Given the description of an element on the screen output the (x, y) to click on. 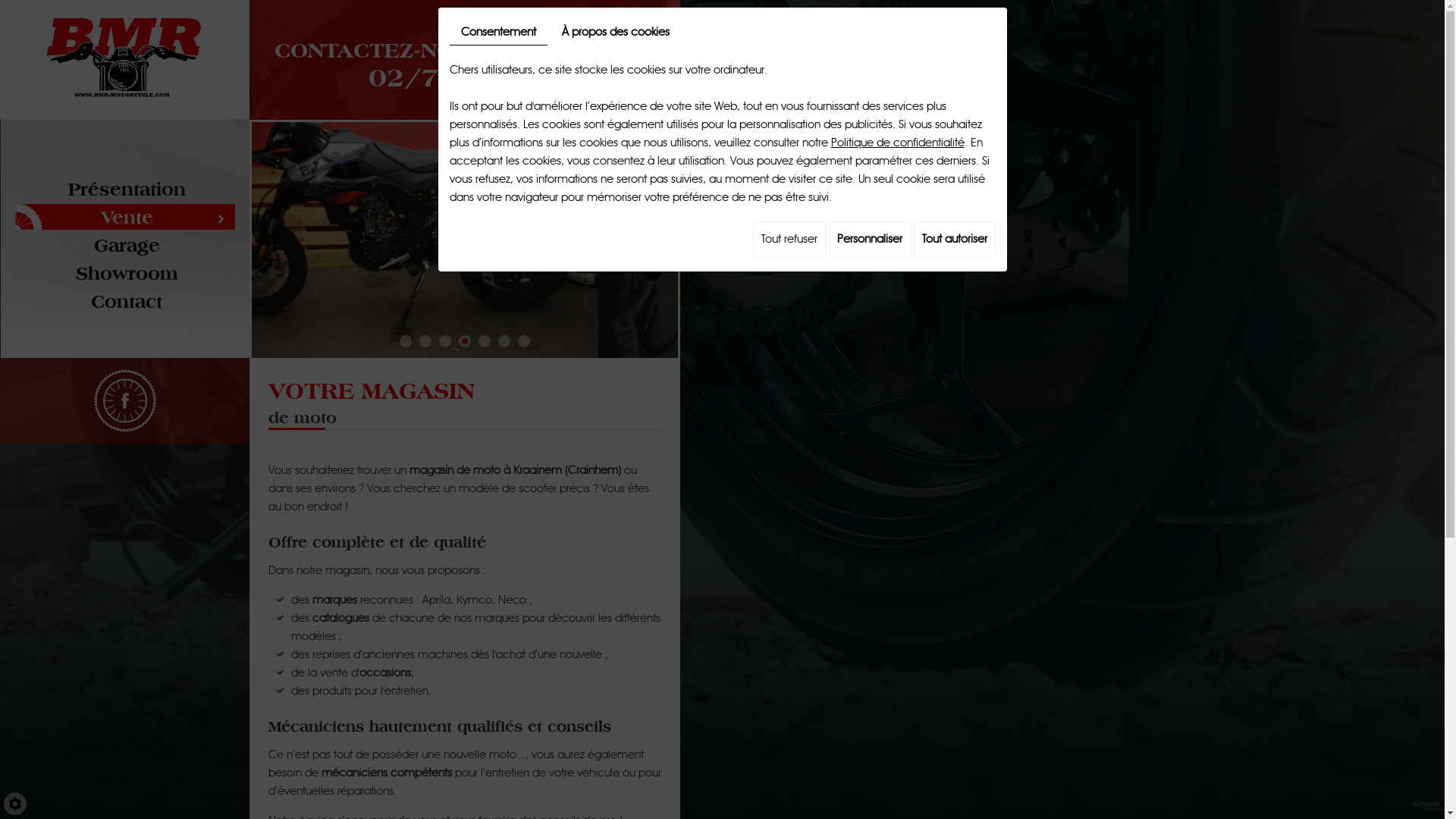
Garage Element type: text (126, 245)
Showroom Element type: text (126, 273)
Personnaliser Element type: text (869, 238)
Tout autoriser Element type: text (953, 238)
Vente Element type: text (126, 217)
Contact Element type: text (126, 301)
Consentement Element type: text (497, 31)
02/725.34.35 Element type: text (420, 76)
Tout refuser Element type: text (788, 238)
